Given the description of an element on the screen output the (x, y) to click on. 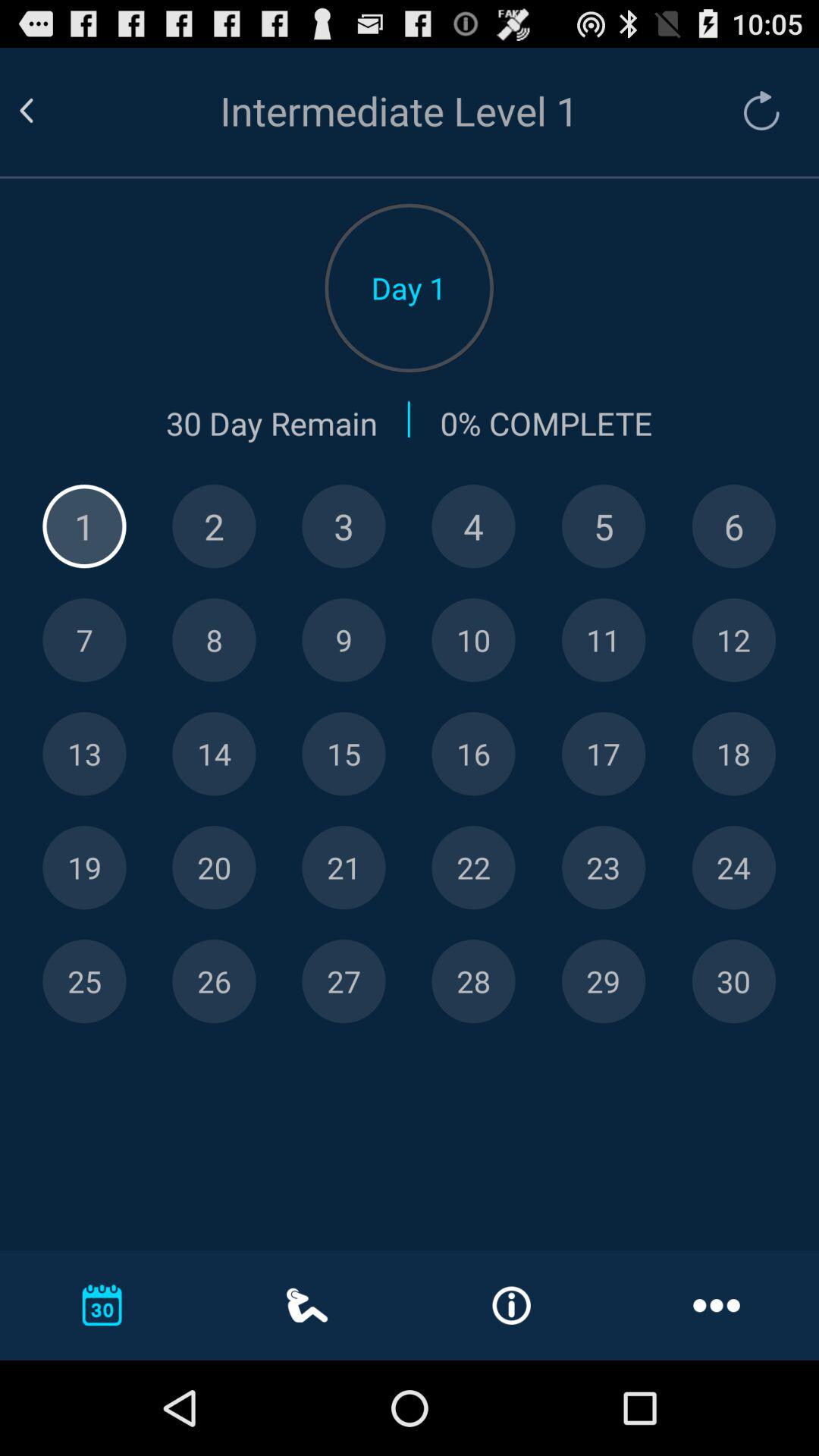
select 12 days remaining (733, 639)
